Given the description of an element on the screen output the (x, y) to click on. 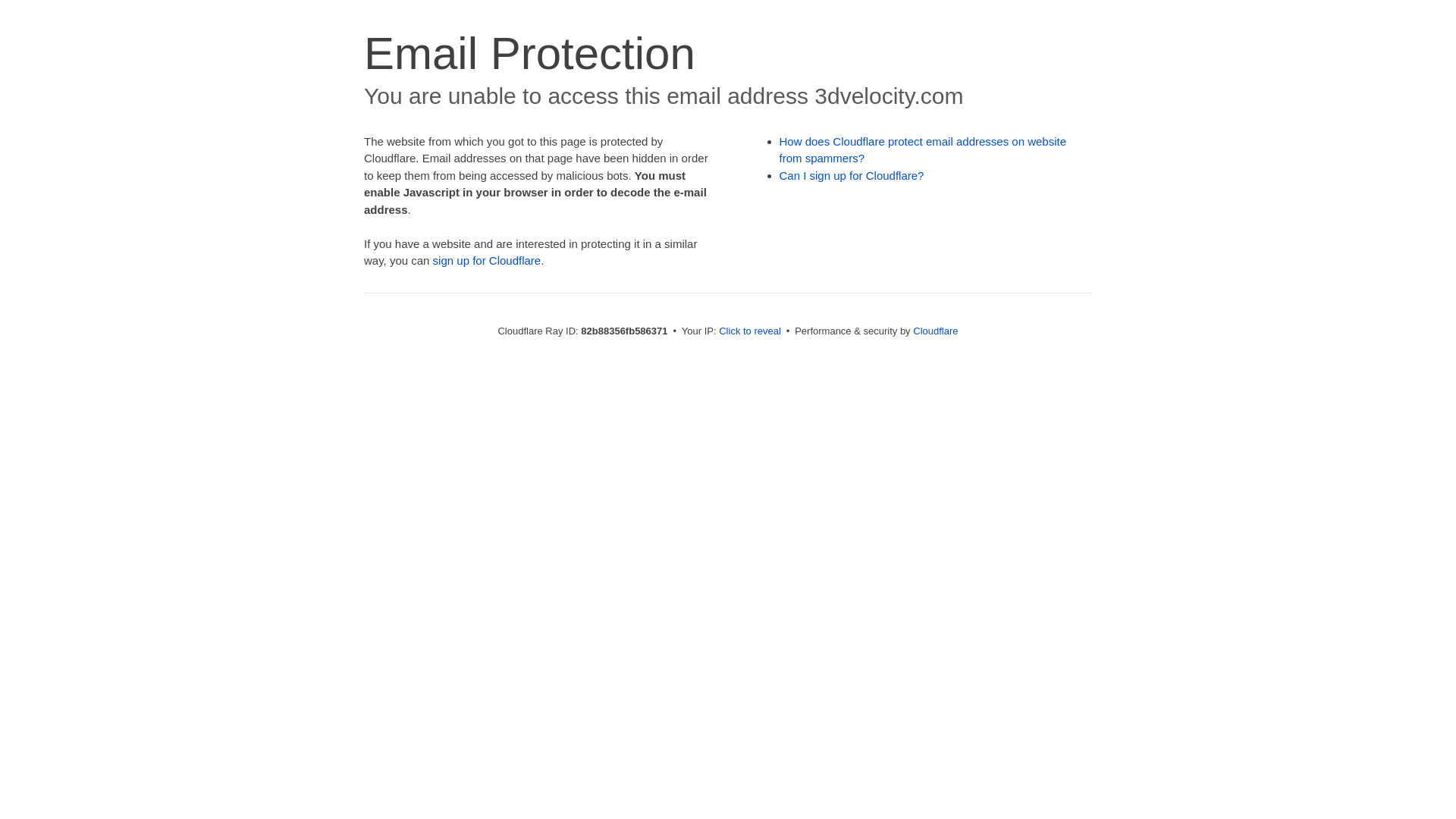
Can I sign up for Cloudflare? Element type: text (851, 175)
sign up for Cloudflare Element type: text (487, 260)
Click to reveal Element type: text (749, 330)
Cloudflare Element type: text (935, 330)
